Given the description of an element on the screen output the (x, y) to click on. 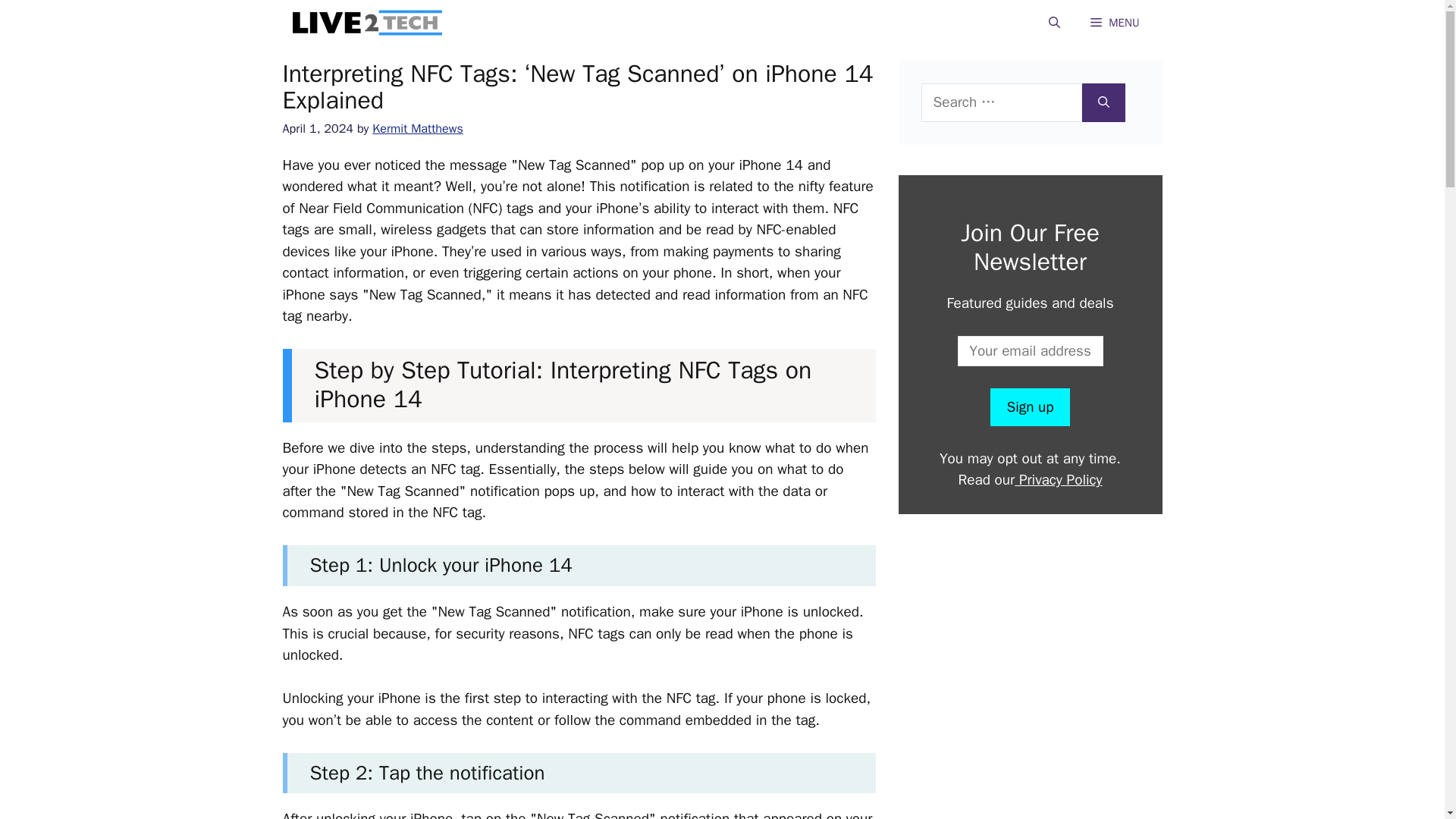
Kermit Matthews (417, 128)
Sign up (1029, 407)
MENU (1114, 22)
